Given the description of an element on the screen output the (x, y) to click on. 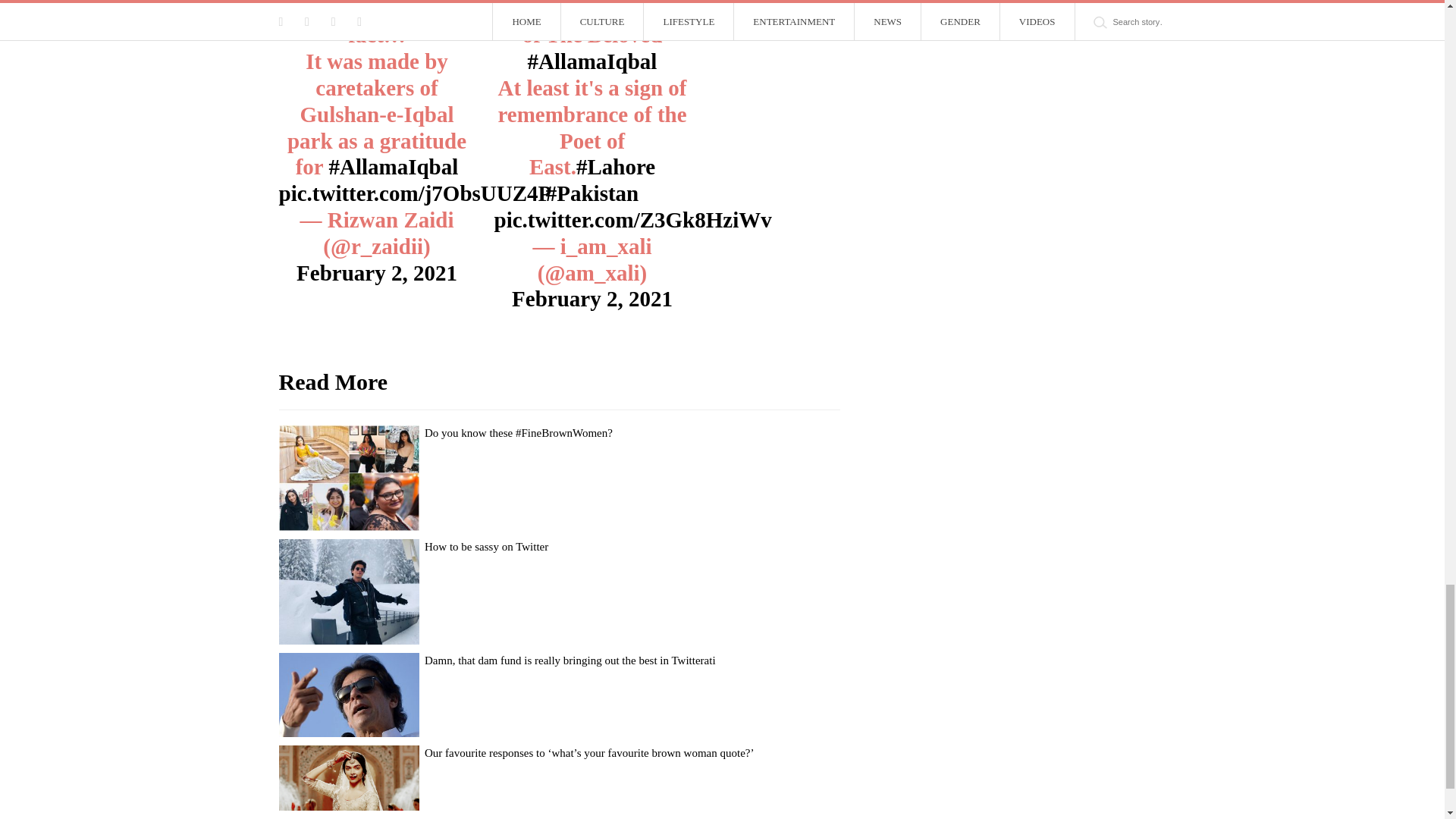
Permanent Link to How to be sassy on Twitter (486, 546)
